Given the description of an element on the screen output the (x, y) to click on. 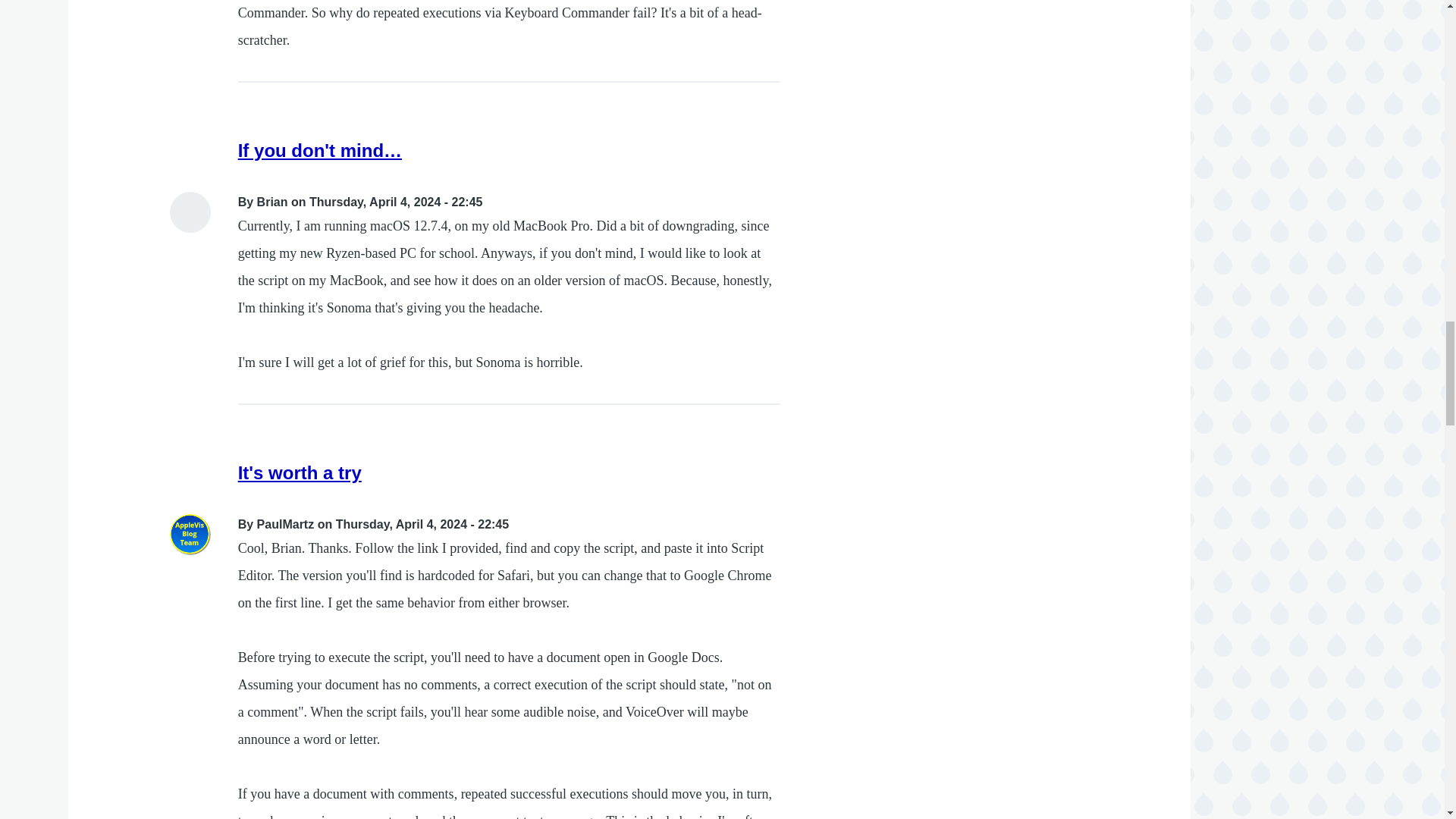
It's worth a try (299, 472)
